Given the description of an element on the screen output the (x, y) to click on. 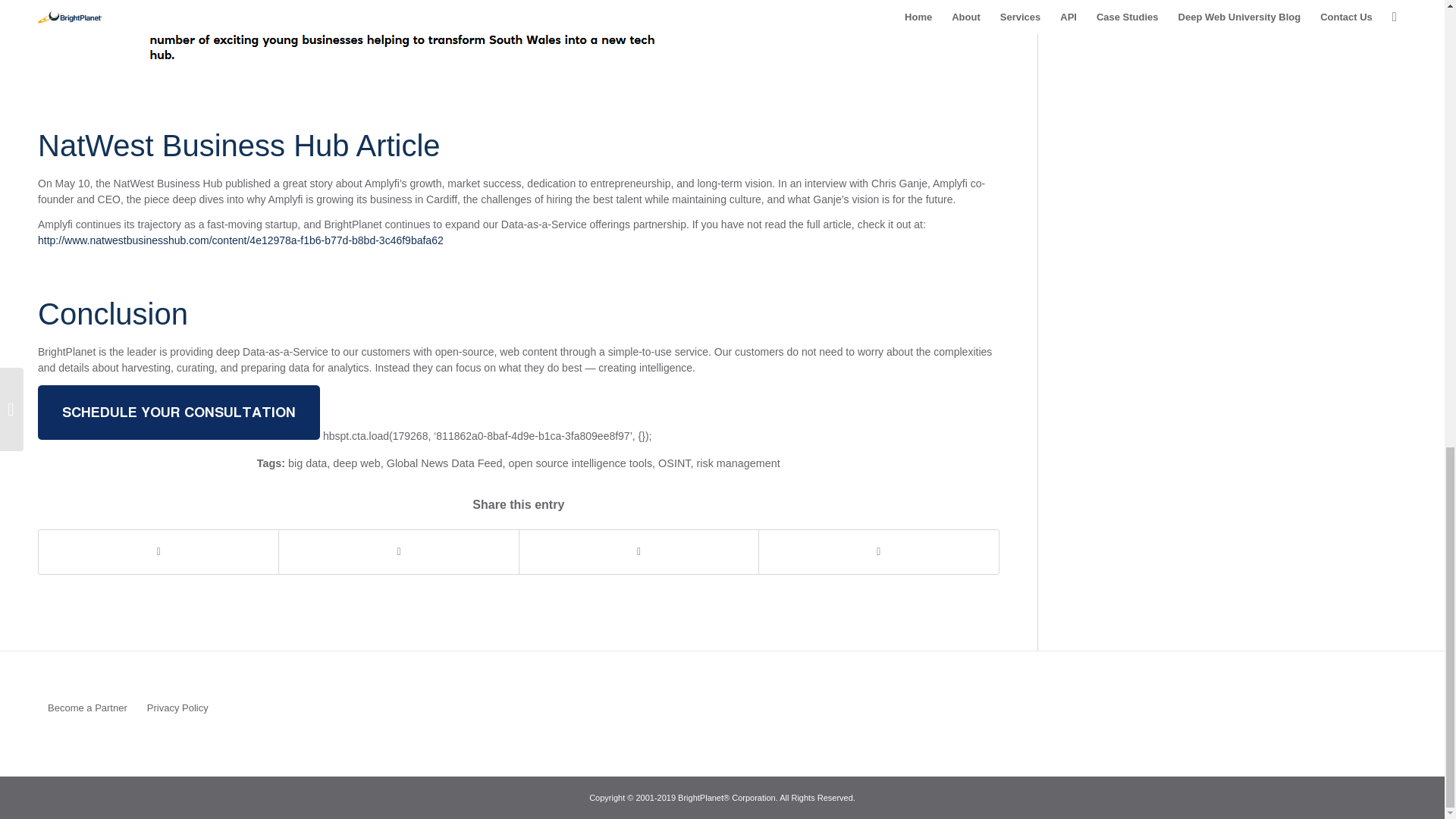
Global News Data Feed (444, 463)
deep web (356, 463)
OSINT (674, 463)
open source intelligence tools (580, 463)
big data (307, 463)
risk management (736, 463)
Become a Partner (88, 708)
Privacy Policy (177, 708)
